Given the description of an element on the screen output the (x, y) to click on. 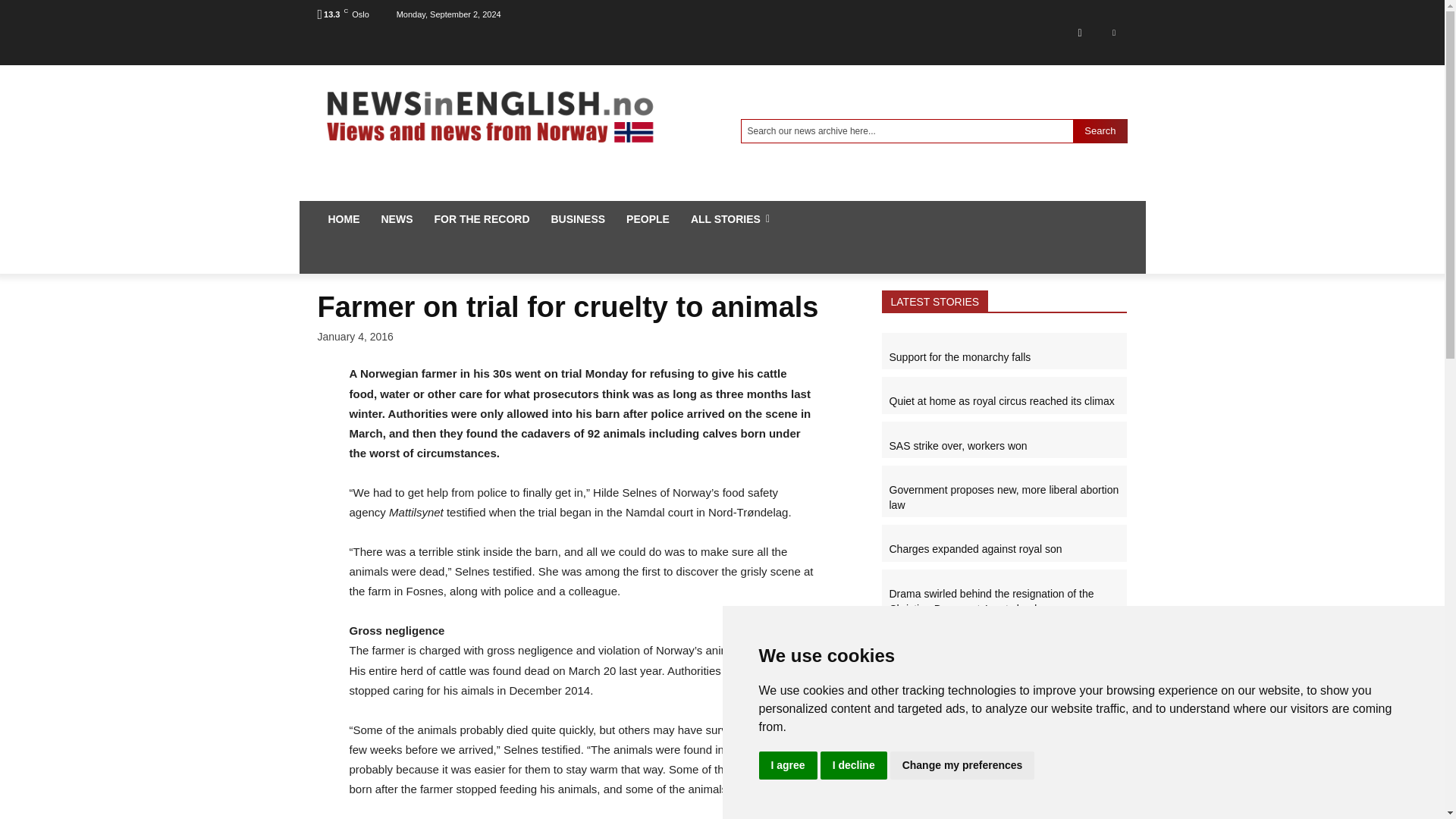
FOR THE RECORD (481, 218)
Sisters indicted for ties to IS terror (968, 747)
PEOPLE (647, 218)
Quiet at home as royal circus reached its climax (1000, 400)
I decline (853, 765)
Government proposes new, more liberal abortion law (1003, 497)
Charges expanded against royal son (974, 702)
Facebook (1079, 32)
Charges expanded against royal son (974, 548)
Twitter (1113, 32)
